Given the description of an element on the screen output the (x, y) to click on. 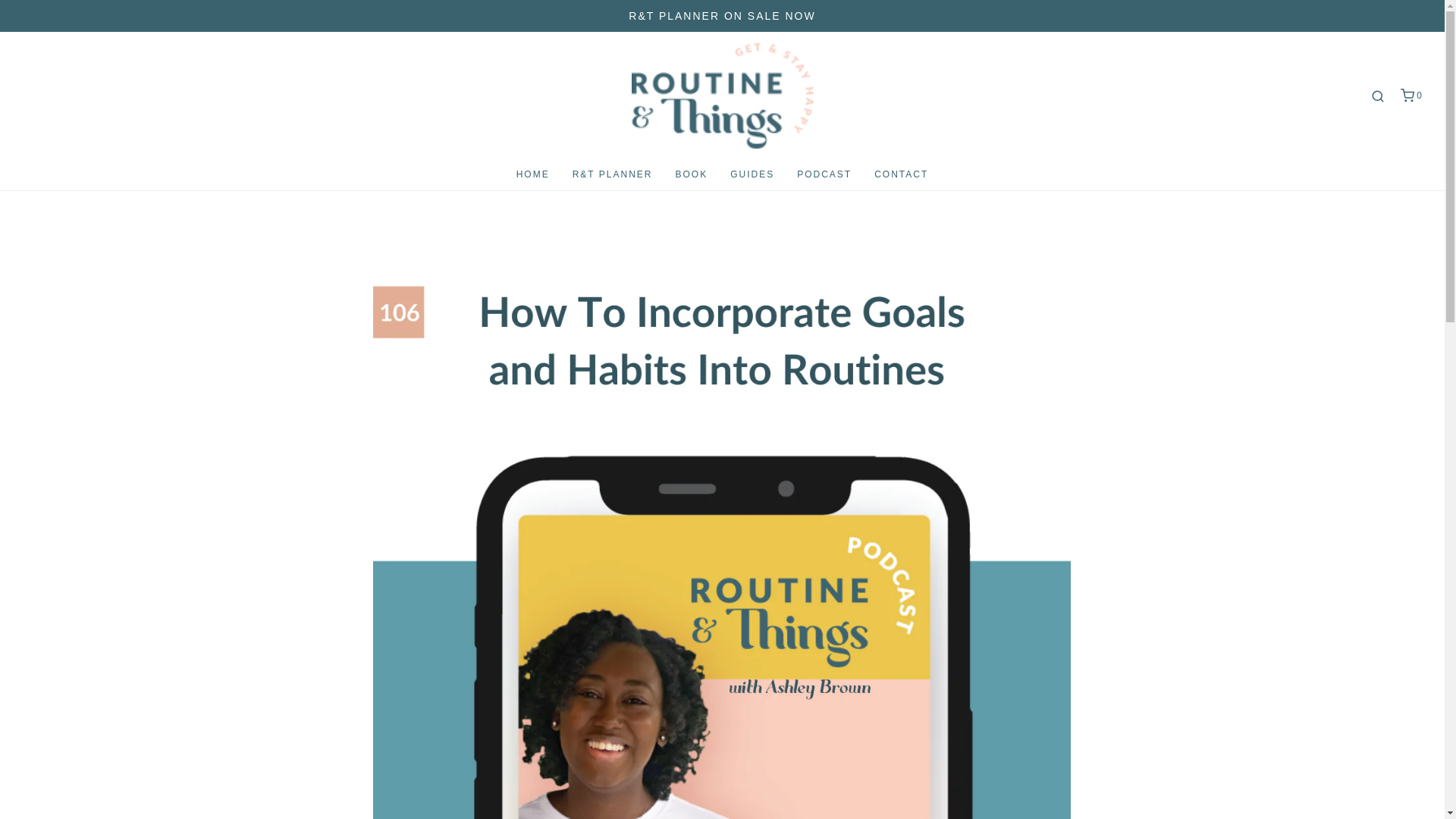
HOME (533, 174)
Search (1377, 96)
Cart (1409, 95)
Search (1423, 6)
PODCAST (823, 174)
GUIDES (752, 174)
CONTACT (901, 174)
0 (1409, 95)
BOOK (691, 174)
